Given the description of an element on the screen output the (x, y) to click on. 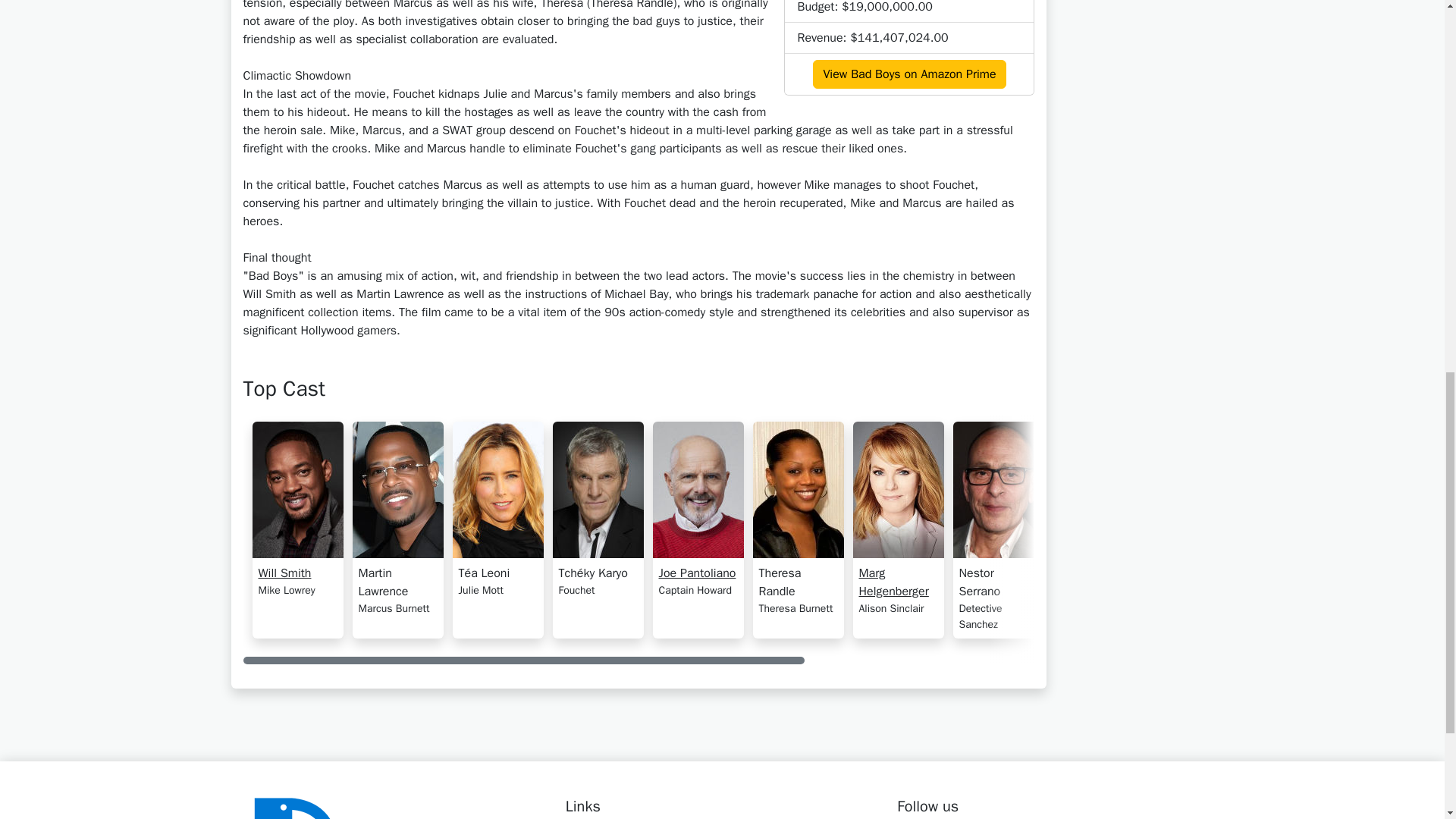
View Bad Boys on Amazon Prime (909, 73)
